Given the description of an element on the screen output the (x, y) to click on. 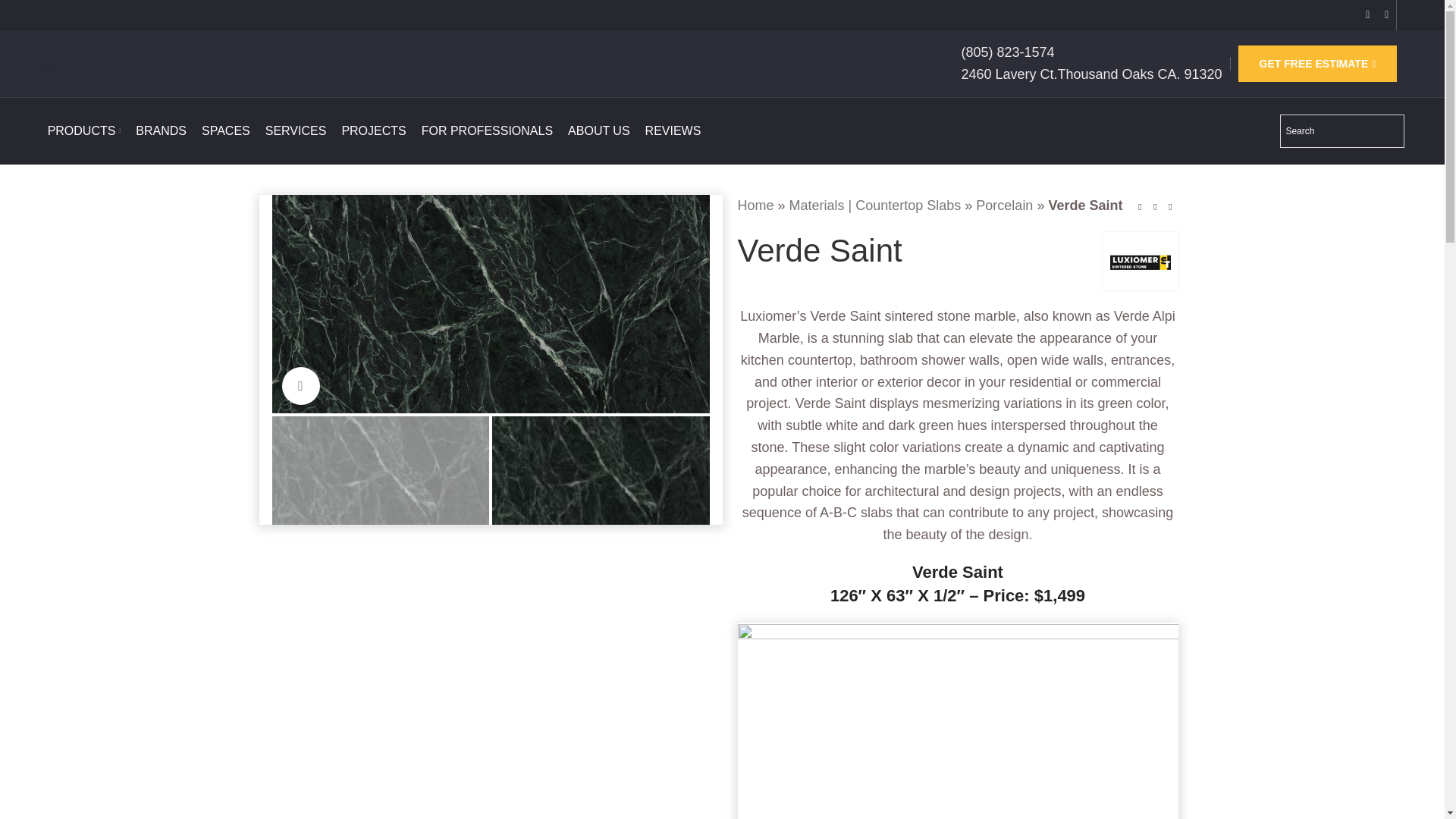
SPACES (226, 131)
REVIEWS (673, 131)
Verde-Saint-01 (489, 303)
GET FREE ESTIMATE (1318, 63)
Luxiomer (1139, 260)
PROJECTS (373, 131)
2460 Lavery Ct.Thousand Oaks CA. 91320 (1090, 73)
PRODUCTS (84, 131)
Home (754, 205)
BRANDS (160, 131)
